Given the description of an element on the screen output the (x, y) to click on. 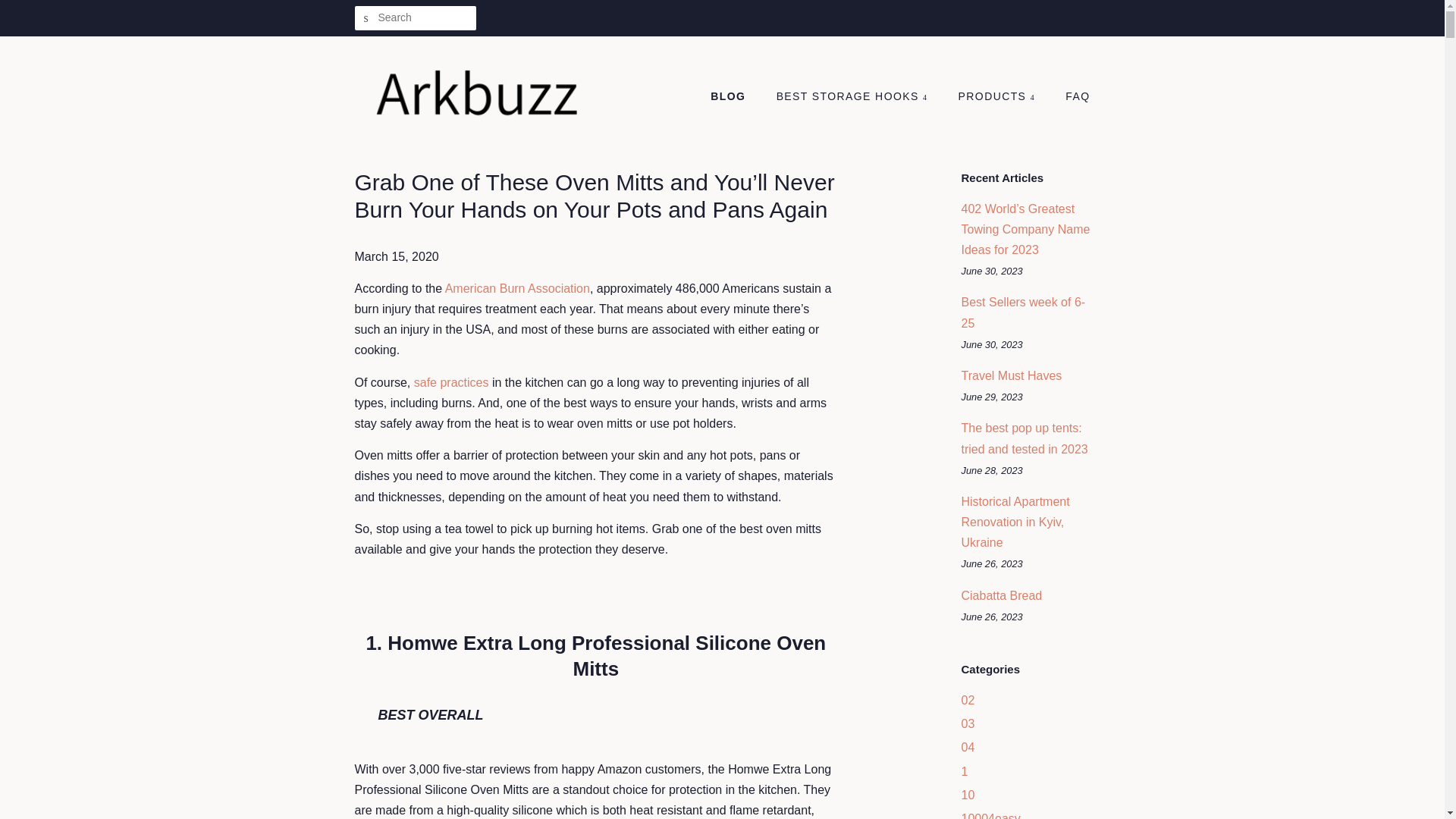
Show articles tagged 02 (967, 699)
FAQ (1071, 96)
Show articles tagged 03 (967, 723)
SEARCH (366, 18)
PRODUCTS (998, 96)
Best Sellers week of 6-25 (1023, 312)
Show articles tagged 04 (967, 747)
safe practices (451, 382)
BEST STORAGE HOOKS (854, 96)
American Burn Association (517, 287)
